Given the description of an element on the screen output the (x, y) to click on. 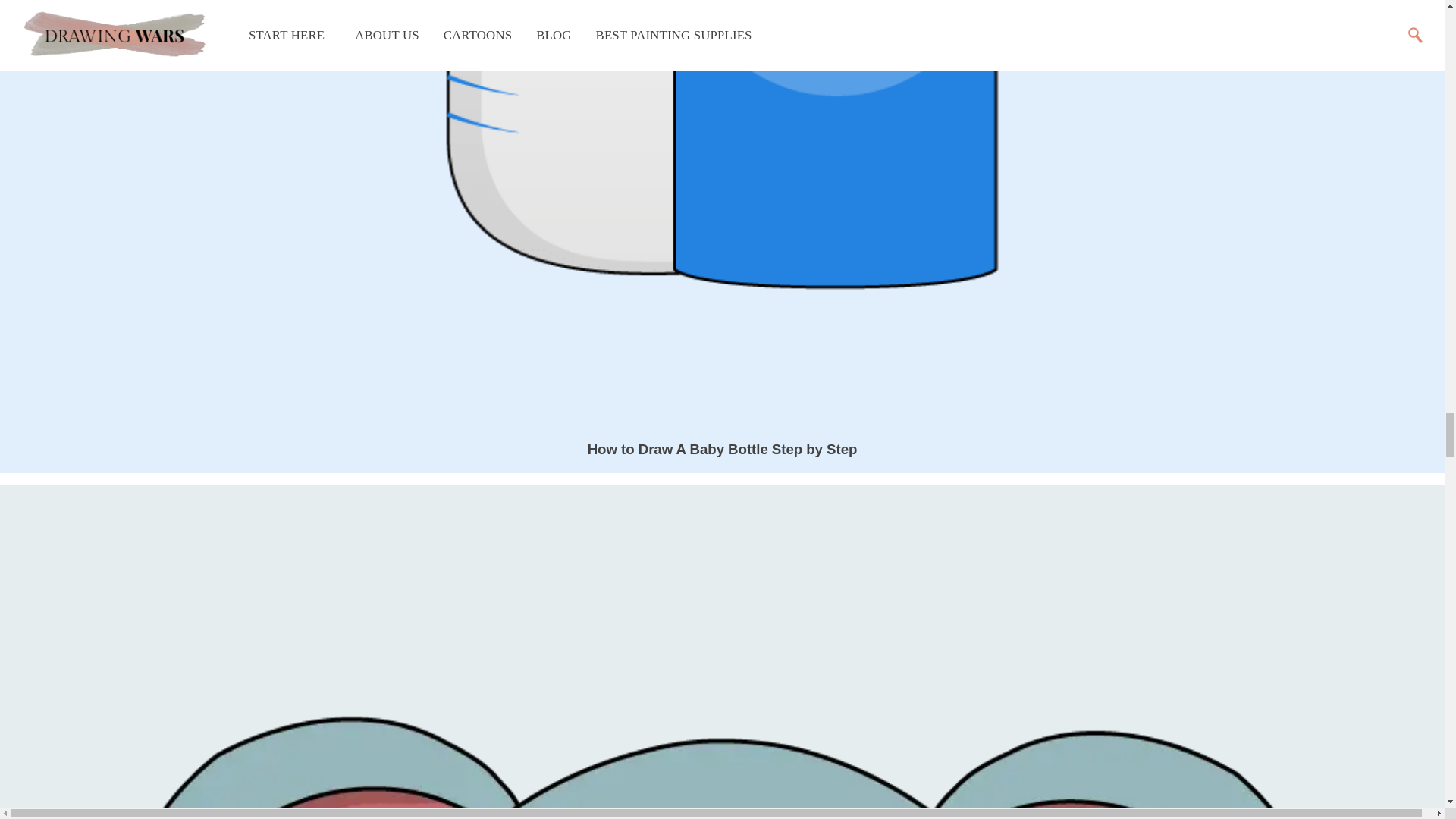
How to Draw A Baby Bottle Step by Step (722, 449)
